Given the description of an element on the screen output the (x, y) to click on. 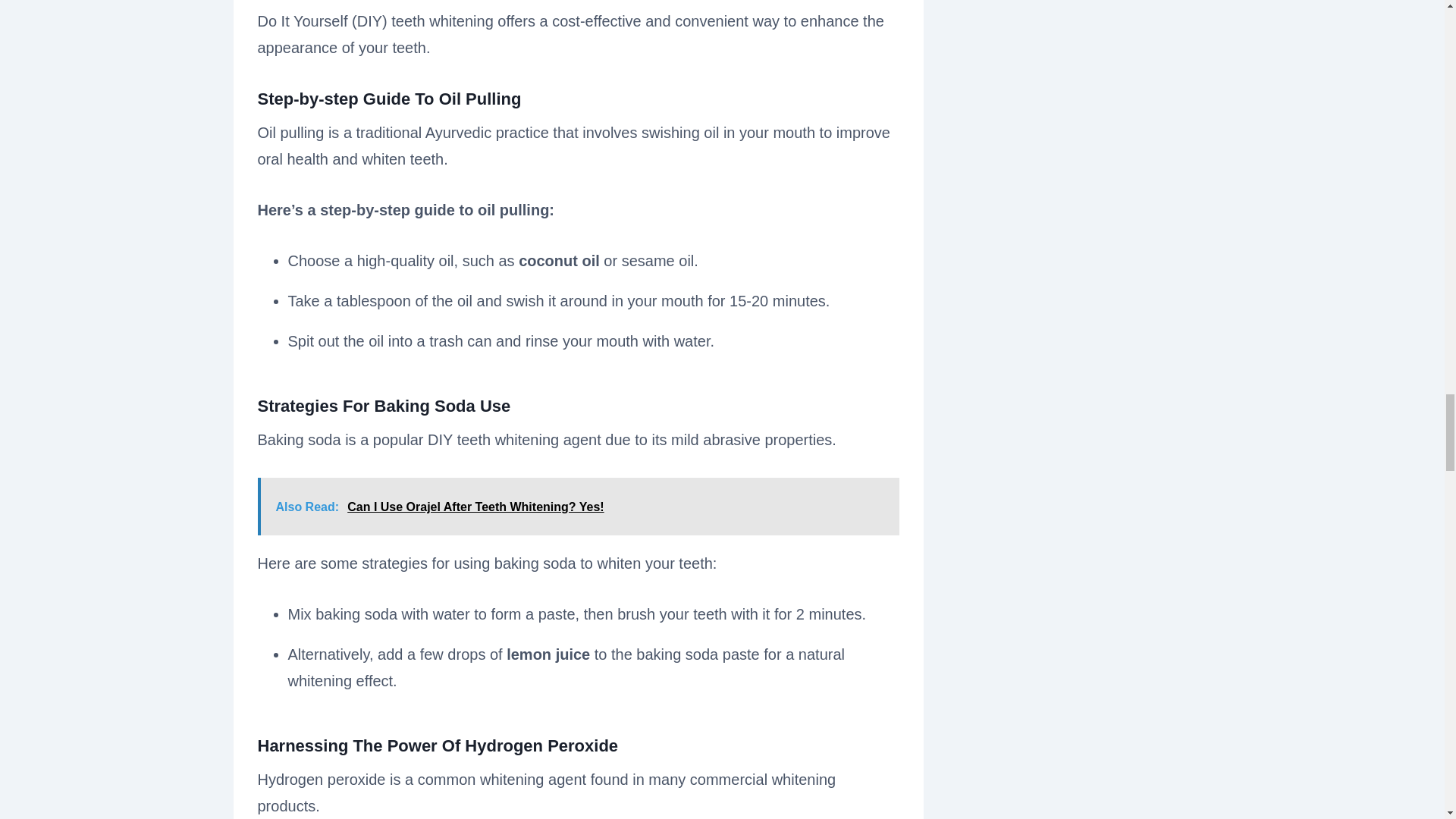
Also Read:  Can I Use Orajel After Teeth Whitening? Yes! (578, 506)
